Given the description of an element on the screen output the (x, y) to click on. 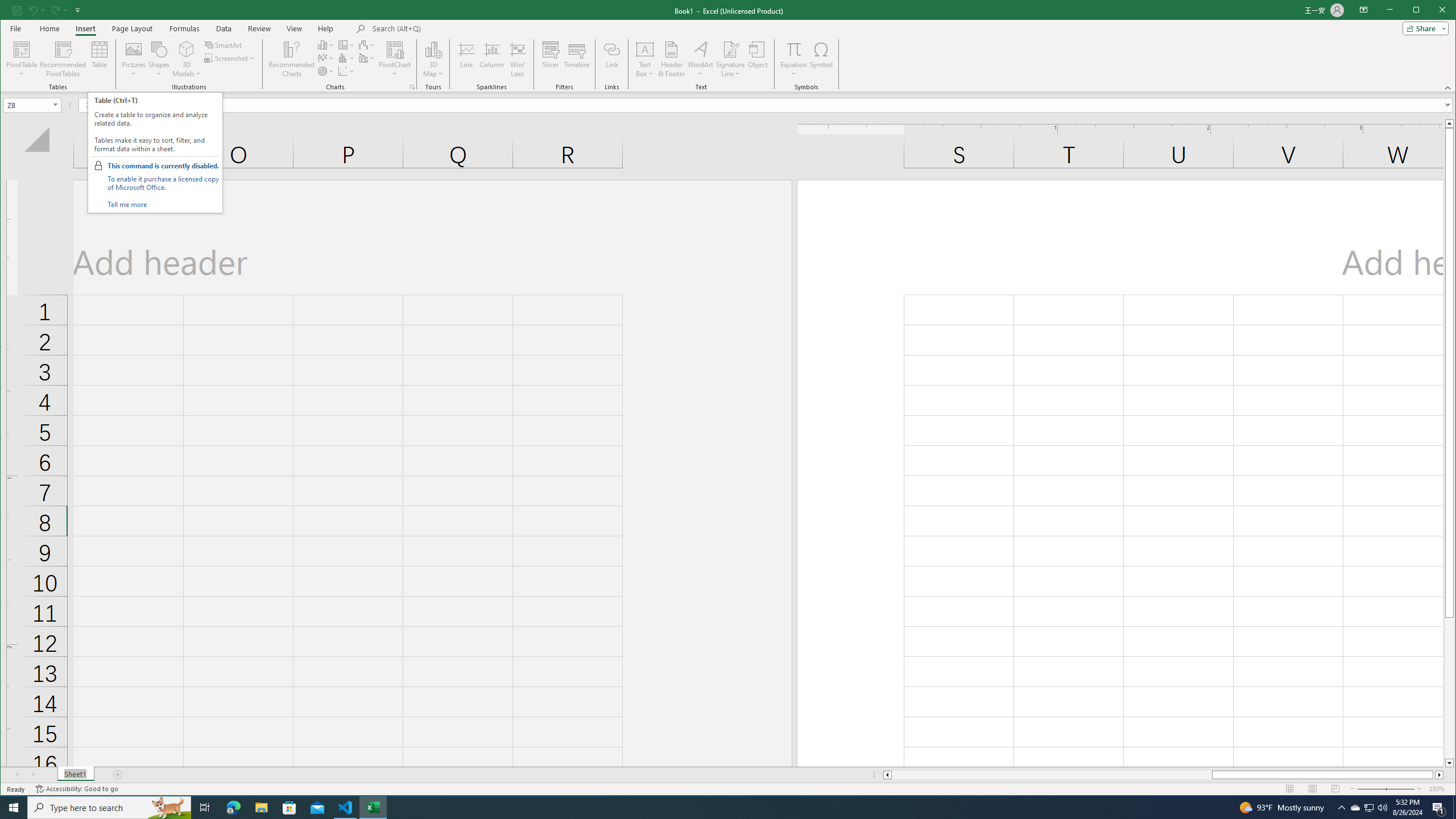
Class: NetUIImage (98, 165)
Excel - 1 running window (373, 807)
Link (611, 59)
PivotTable (22, 59)
